Given the description of an element on the screen output the (x, y) to click on. 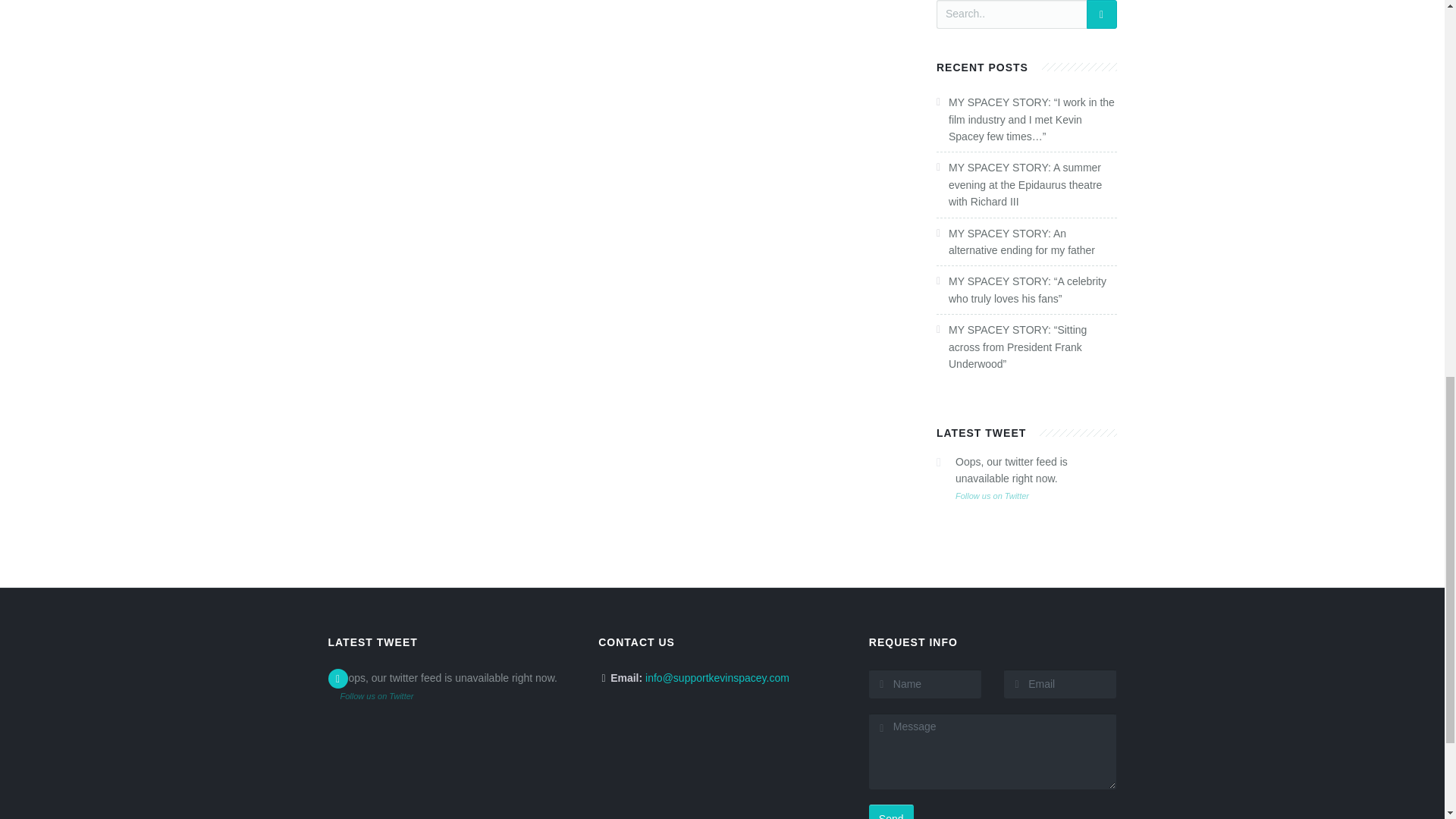
MY SPACEY STORY: An alternative ending for my father (1021, 241)
Name (925, 683)
